Given the description of an element on the screen output the (x, y) to click on. 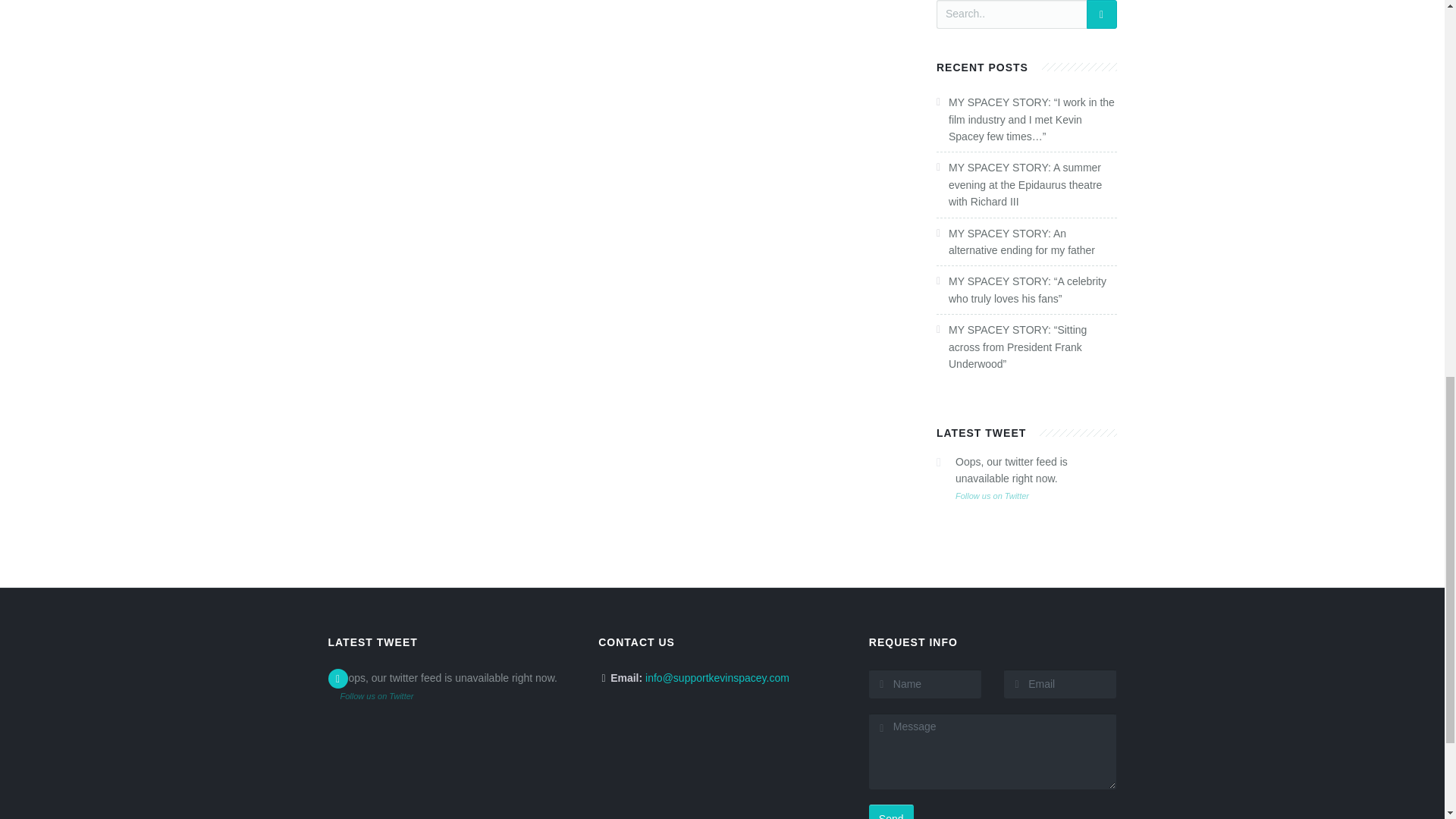
MY SPACEY STORY: An alternative ending for my father (1021, 241)
Name (925, 683)
